Given the description of an element on the screen output the (x, y) to click on. 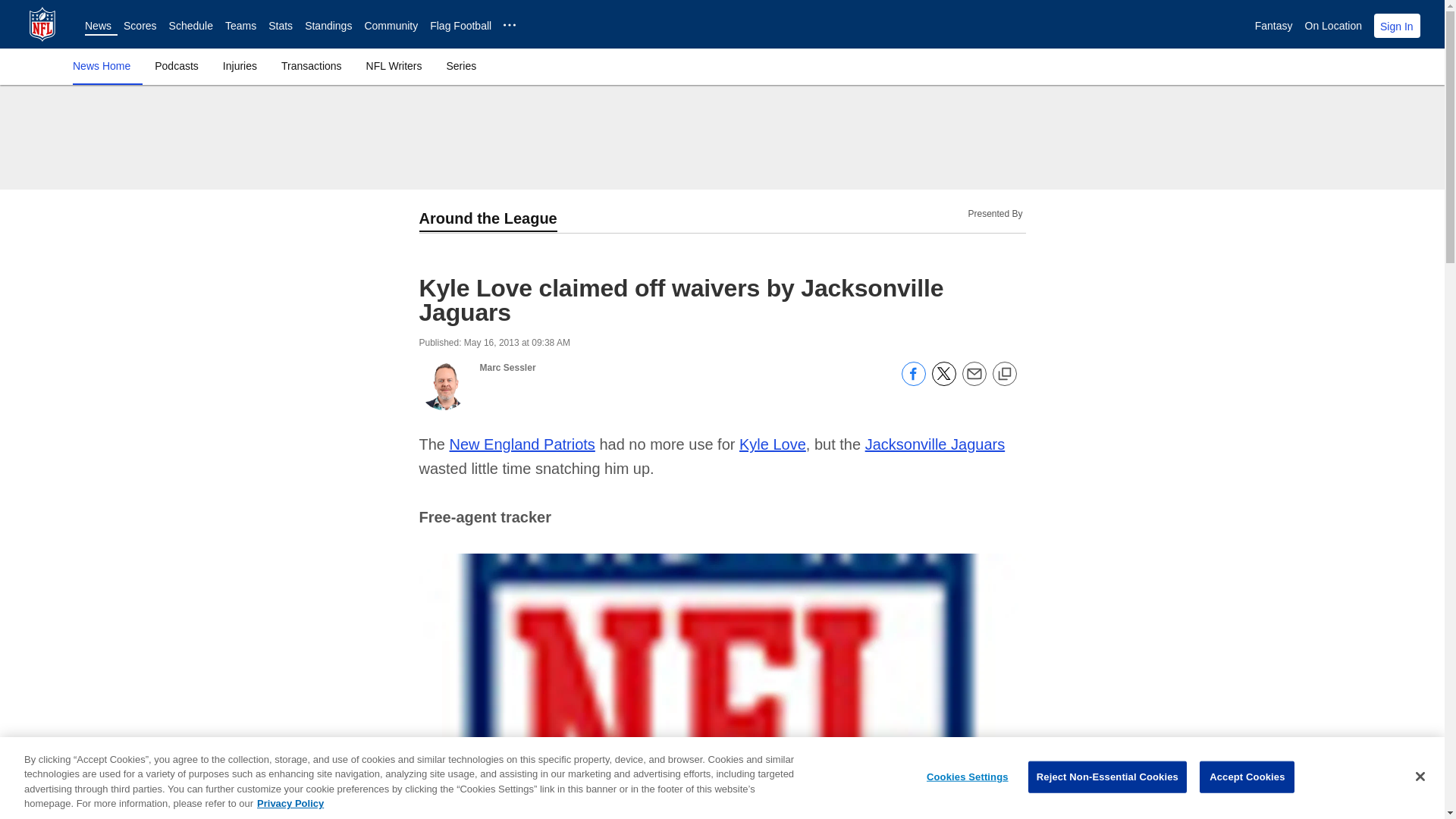
Teams (240, 25)
Link to NFL homepage (42, 23)
Teams (240, 25)
News (98, 25)
Schedule (190, 25)
Schedule (190, 25)
Stats (279, 25)
Scores (140, 25)
Scores (140, 25)
News (98, 25)
